Given the description of an element on the screen output the (x, y) to click on. 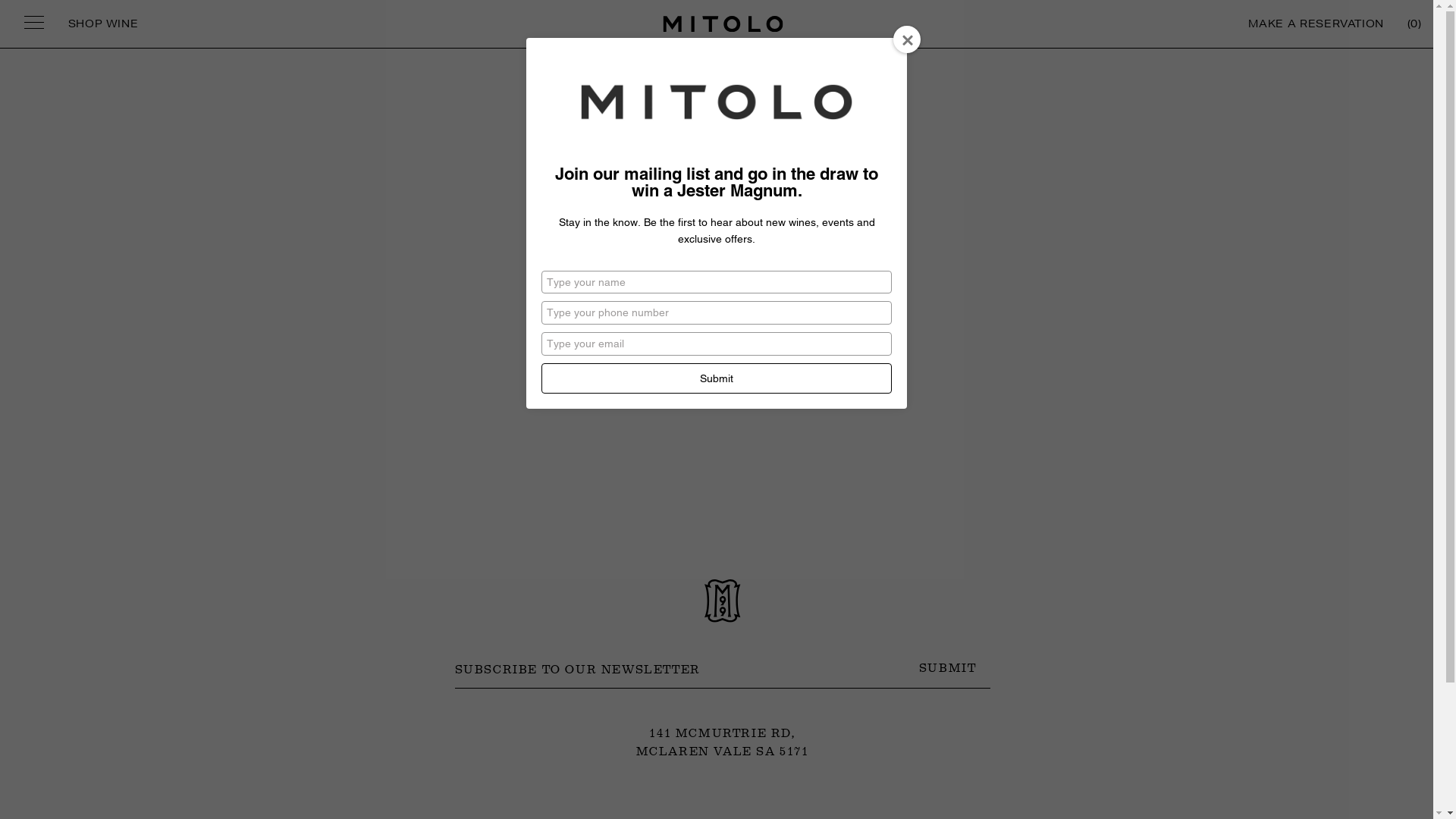
MAKE A RESERVATION Element type: text (1315, 23)
SUBMIT Element type: text (947, 668)
SHOP WINE Element type: text (103, 23)
Submit Element type: text (716, 378)
BACK TO HOME Element type: text (721, 246)
